Given the description of an element on the screen output the (x, y) to click on. 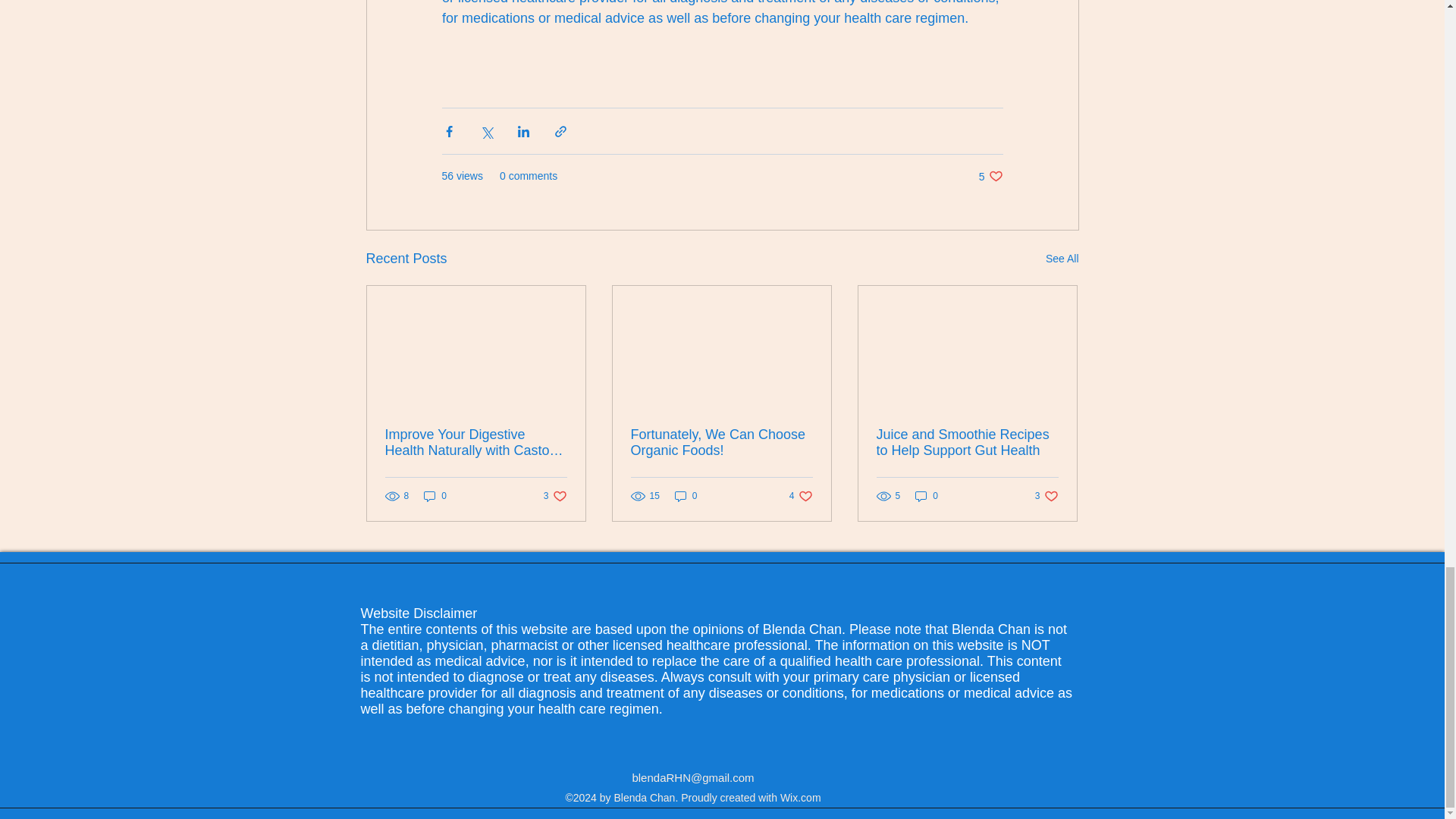
See All (1061, 259)
0 (800, 495)
Fortunately, We Can Choose Organic Foods! (685, 495)
0 (990, 175)
